Given the description of an element on the screen output the (x, y) to click on. 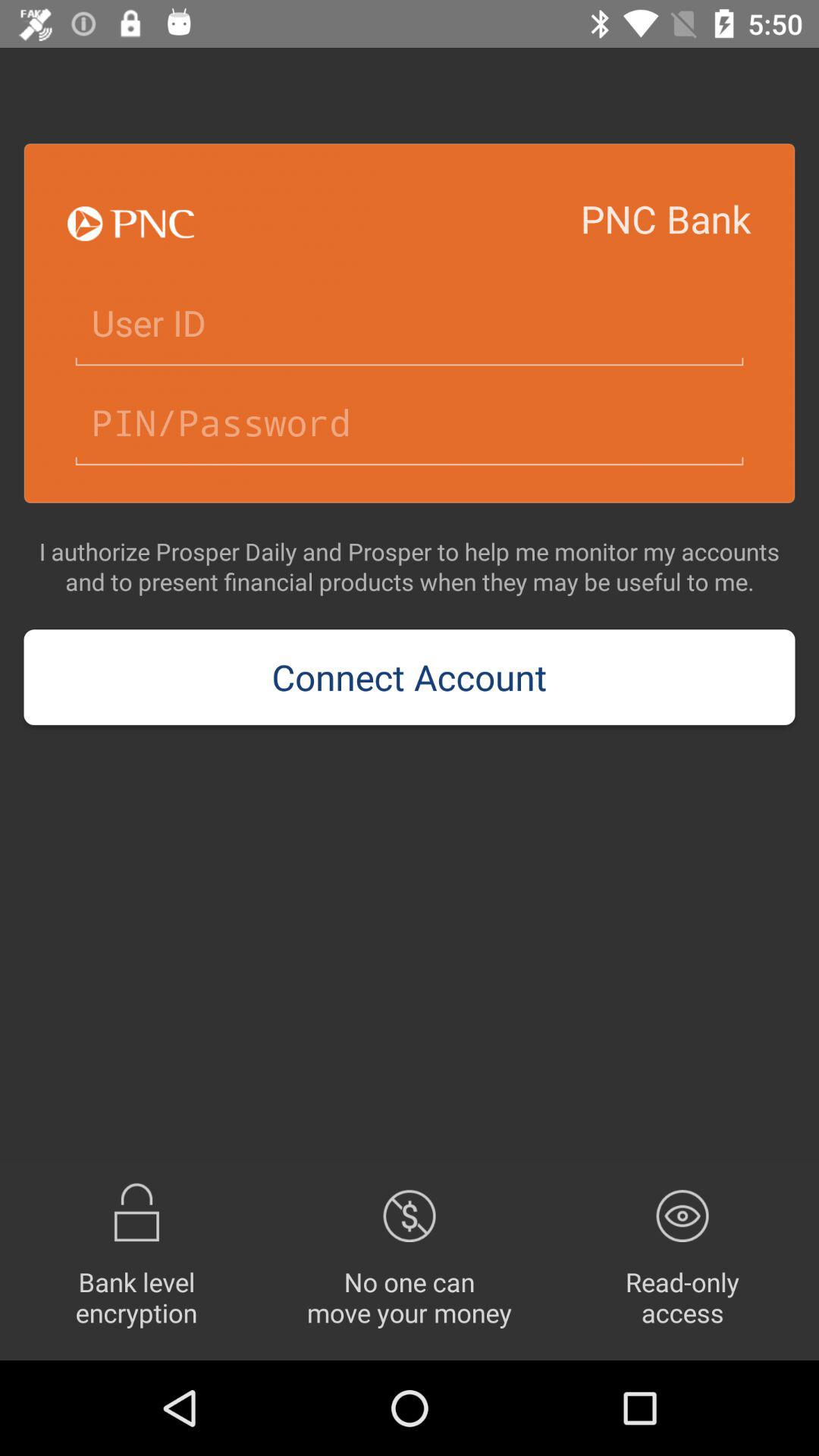
enter user identification (409, 323)
